Given the description of an element on the screen output the (x, y) to click on. 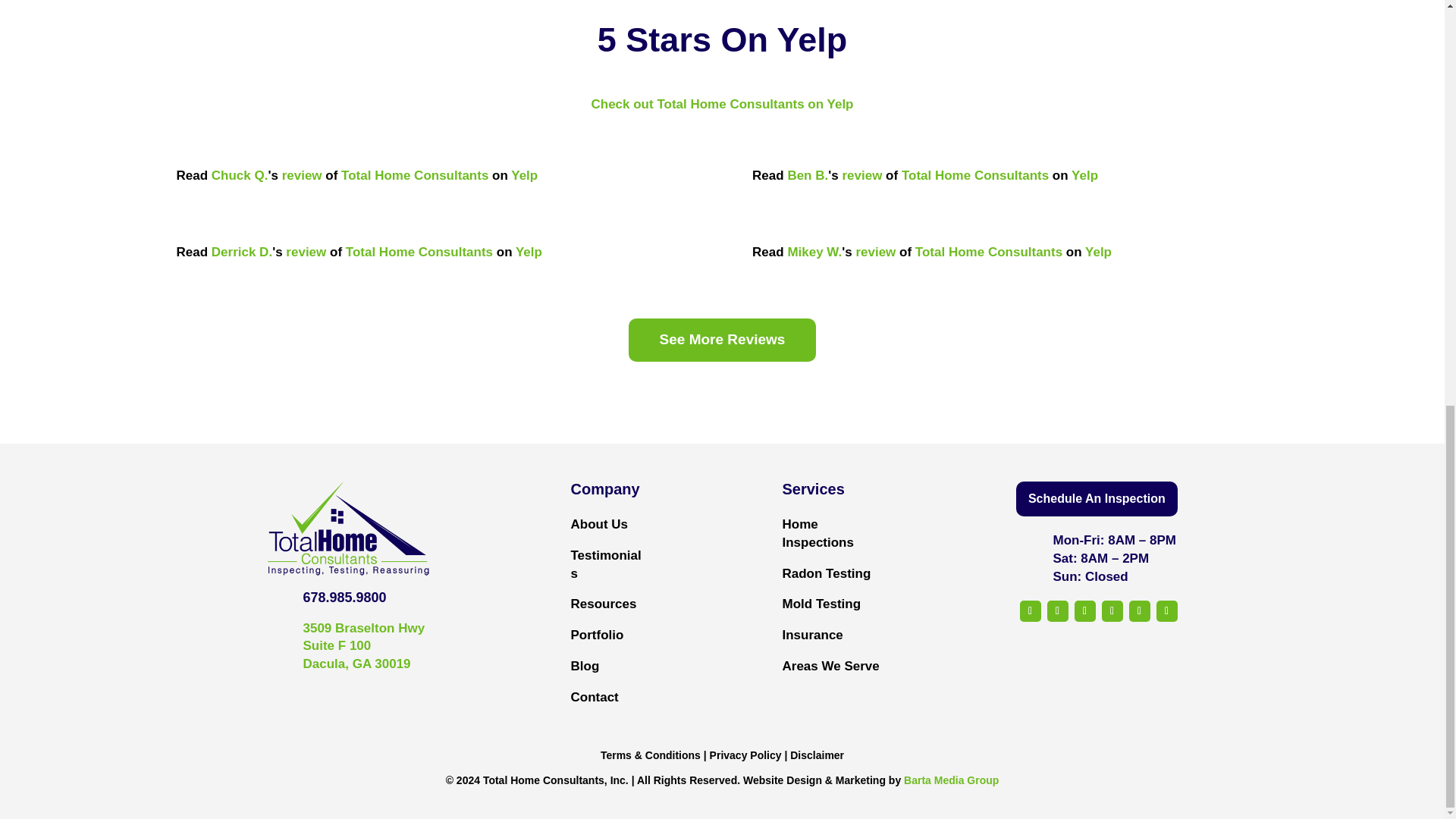
review (861, 175)
Yelp (524, 175)
Total Home Consultants (419, 251)
Total Home Consultants (413, 175)
Follow on Youtube (1111, 610)
Follow on Instagram (1084, 610)
Ben B. (807, 175)
Derrick D. (241, 251)
Yelp (1084, 175)
Check out Total Home Consultants on Yelp (722, 104)
